Given the description of an element on the screen output the (x, y) to click on. 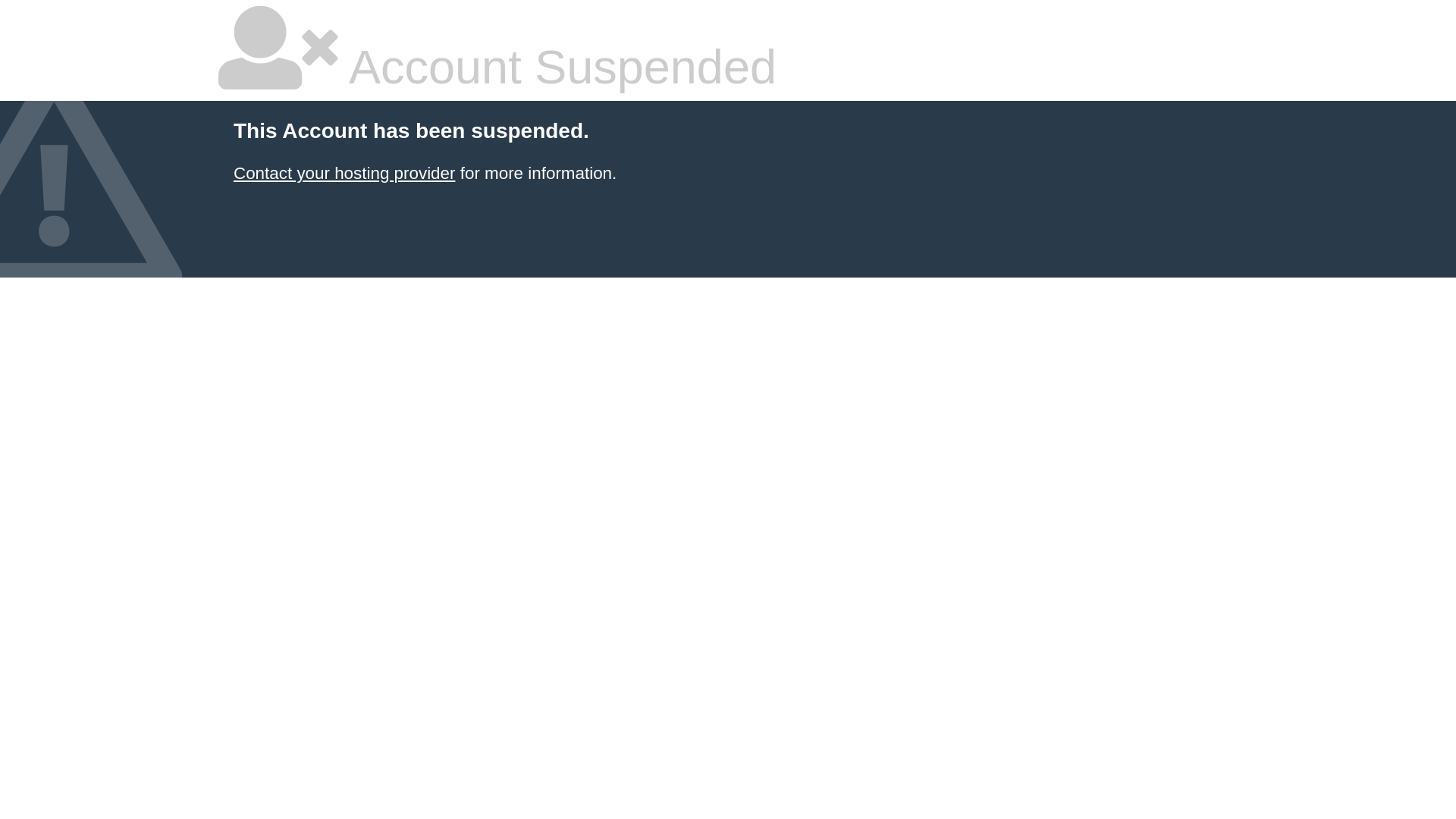
Contact your hosting provider Element type: text (344, 172)
